Given the description of an element on the screen output the (x, y) to click on. 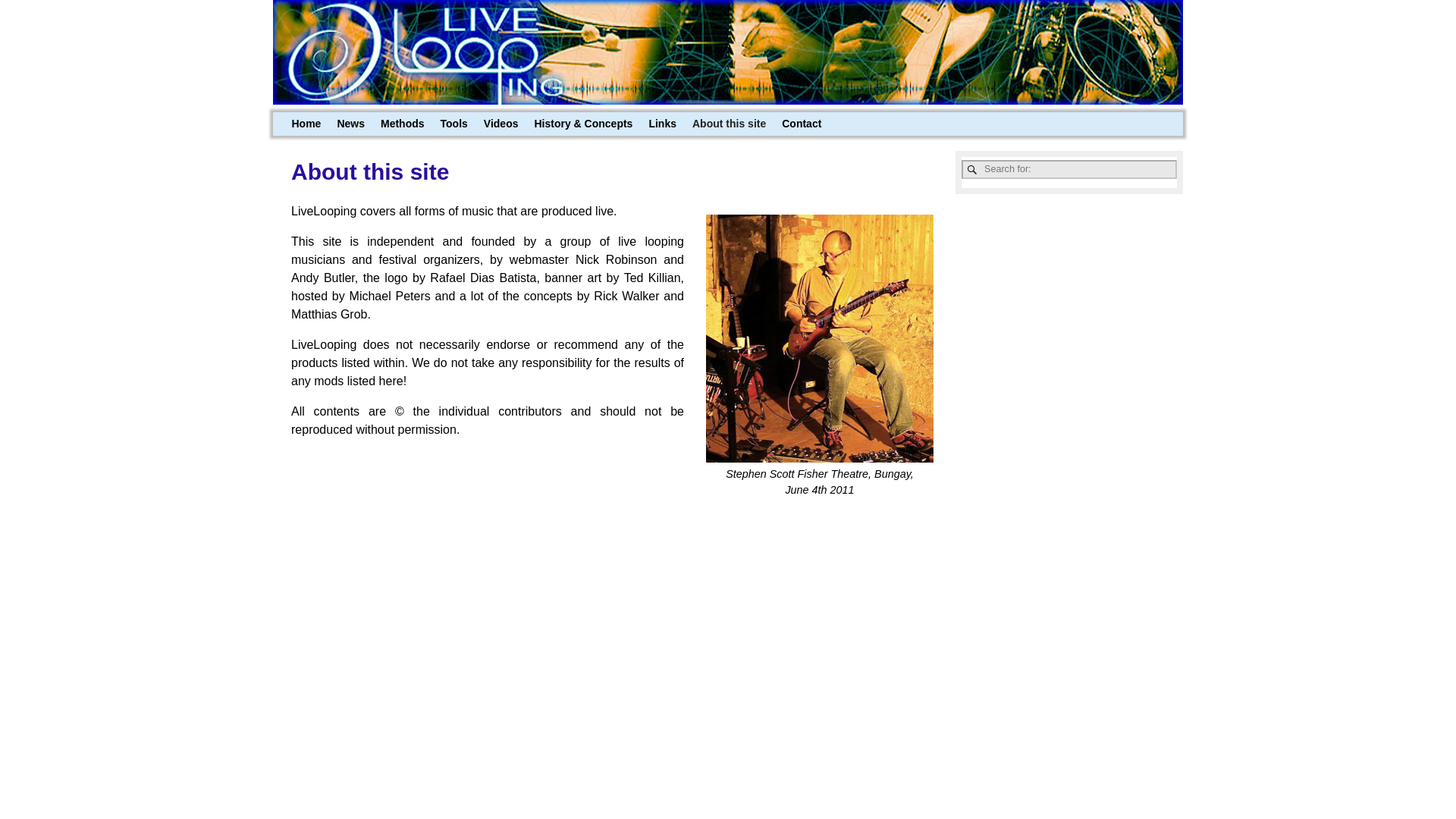
Tools (454, 123)
Home (306, 123)
Home (306, 123)
News (350, 123)
Methods (402, 123)
